Given the description of an element on the screen output the (x, y) to click on. 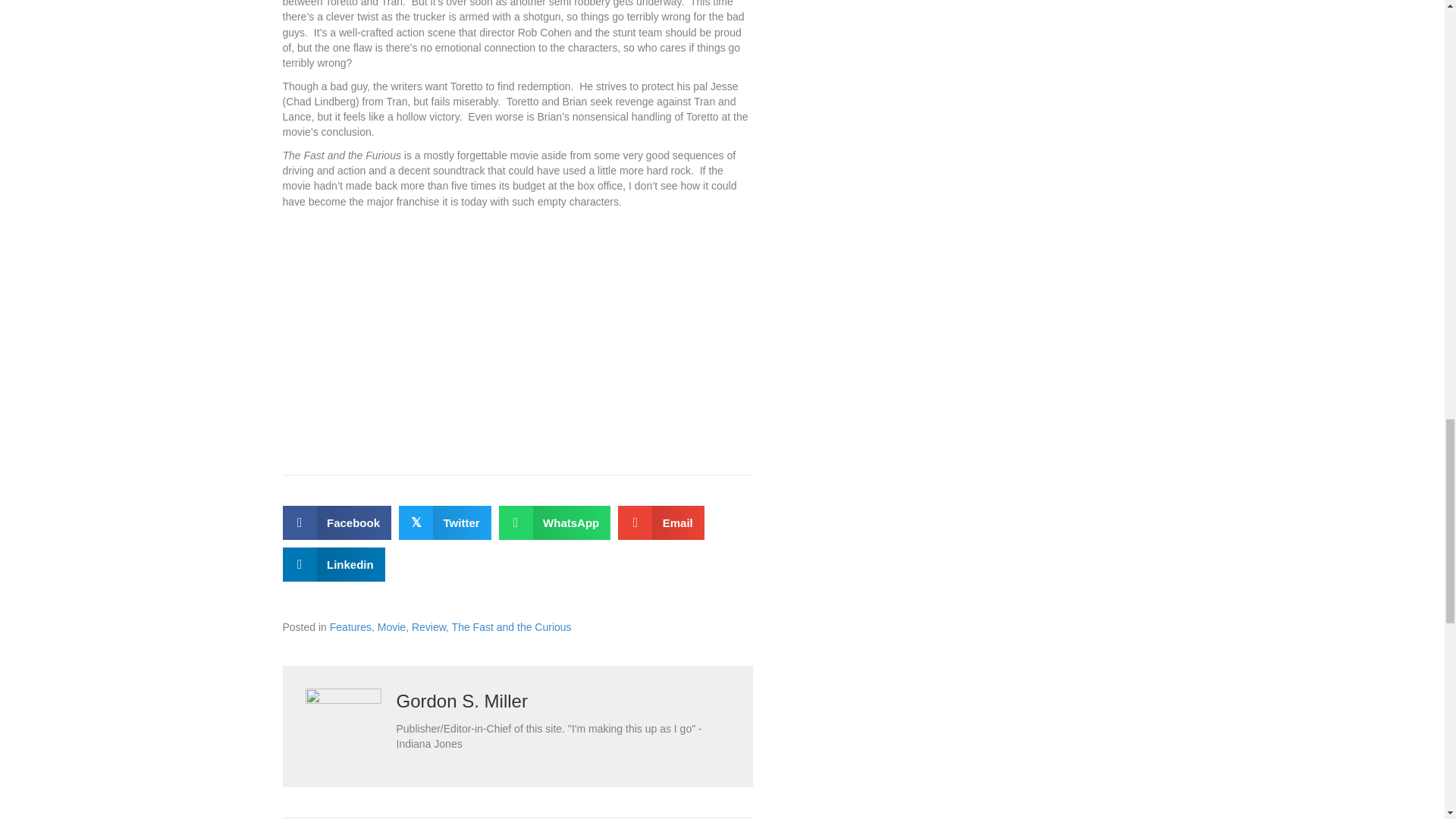
WhatsApp (555, 522)
Features (350, 626)
Email (660, 522)
Movie (391, 626)
Linkedin (333, 564)
The Fast and The Furious - Trailer (471, 323)
The Fast and the Curious (511, 626)
Facebook (336, 522)
Review (428, 626)
